Given the description of an element on the screen output the (x, y) to click on. 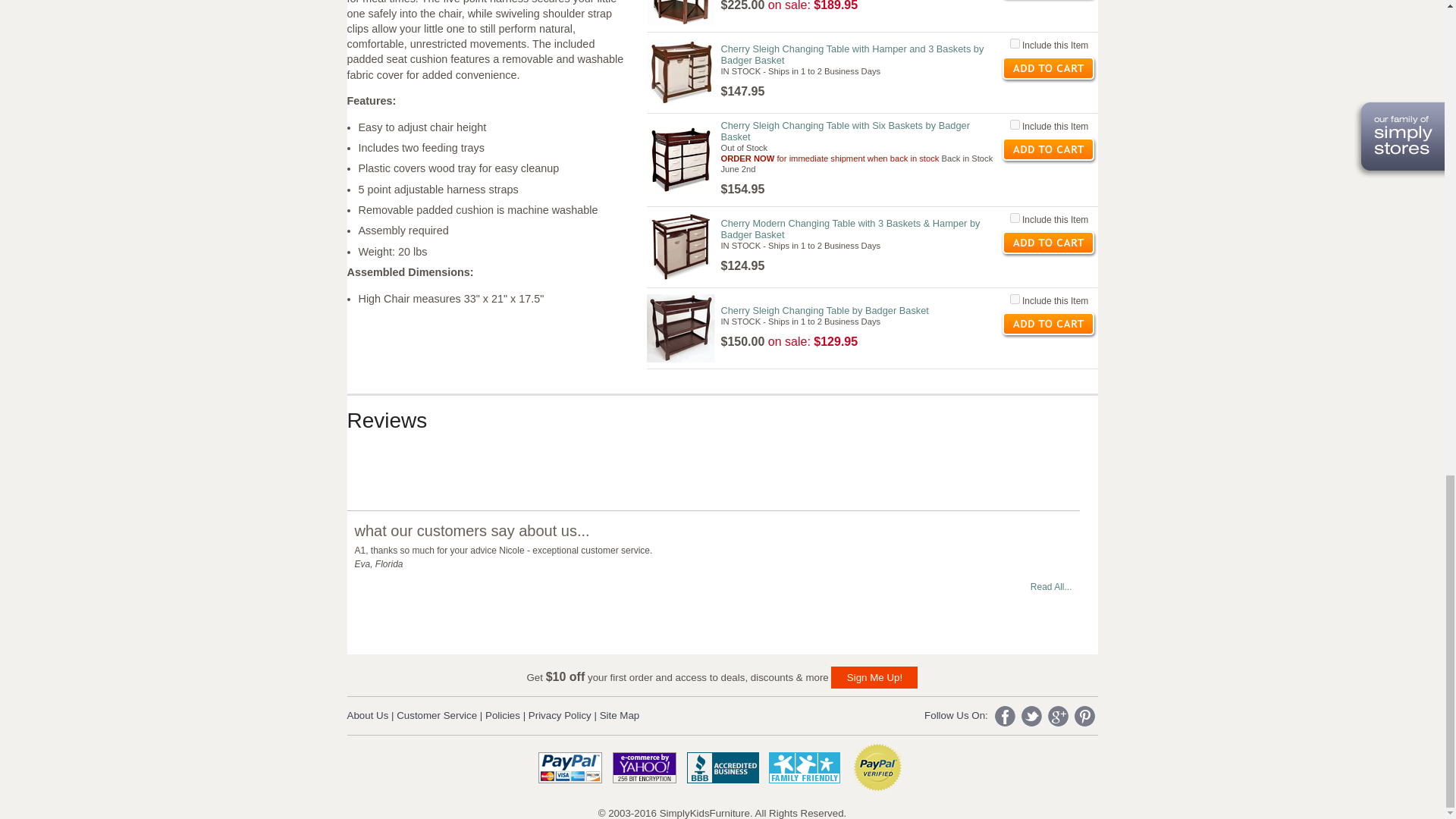
106116 (1015, 124)
106118 (1015, 217)
106111 (1015, 298)
106115 (1015, 43)
